Given the description of an element on the screen output the (x, y) to click on. 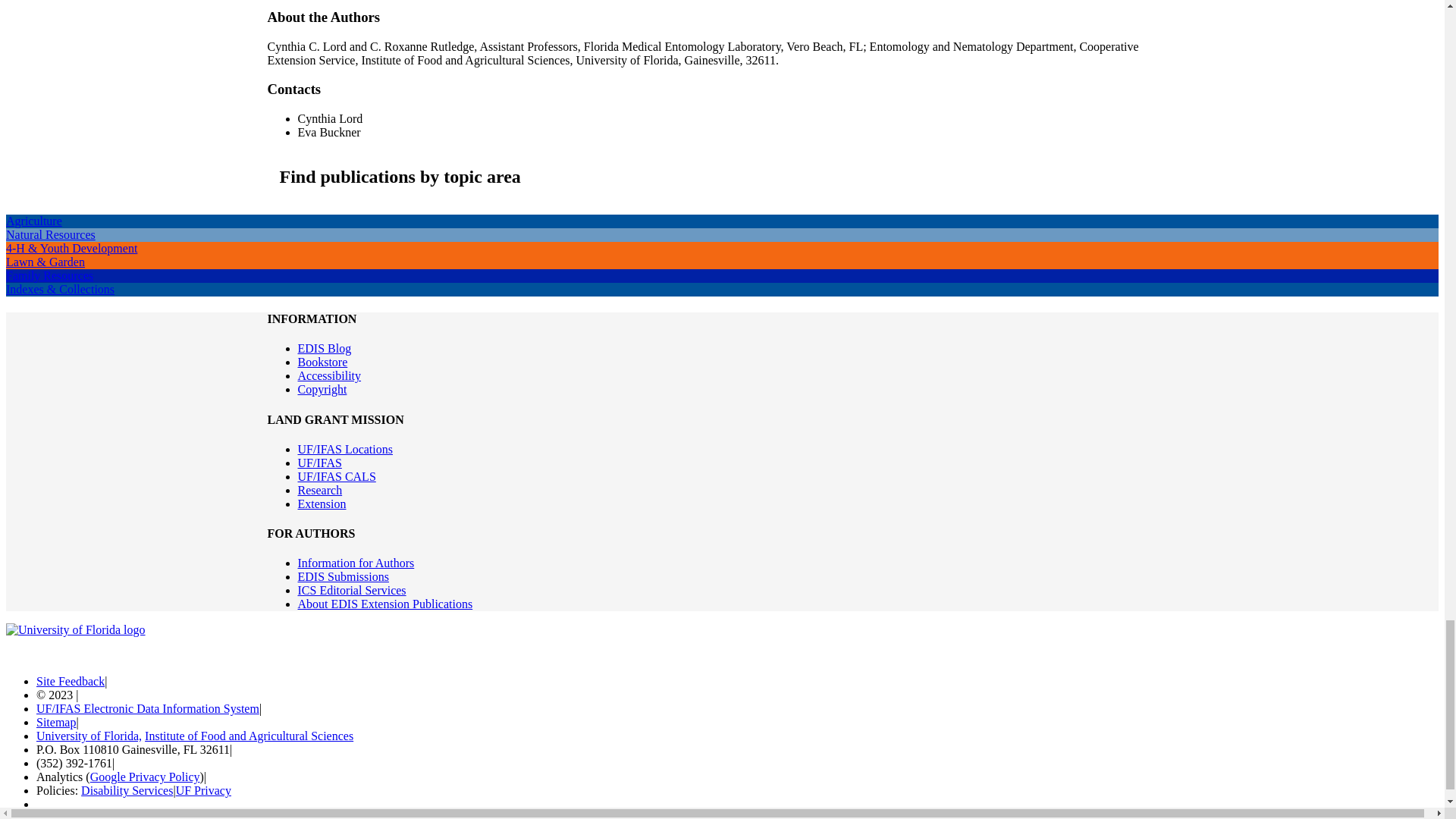
Accessibility (329, 375)
Accessibility (329, 375)
ICS Editorial Services (351, 590)
Copyright (321, 389)
Extension (321, 503)
Sitemap (55, 721)
Research (319, 490)
University of Florida, (88, 735)
Author Resources (355, 562)
Copyright (321, 389)
